Given the description of an element on the screen output the (x, y) to click on. 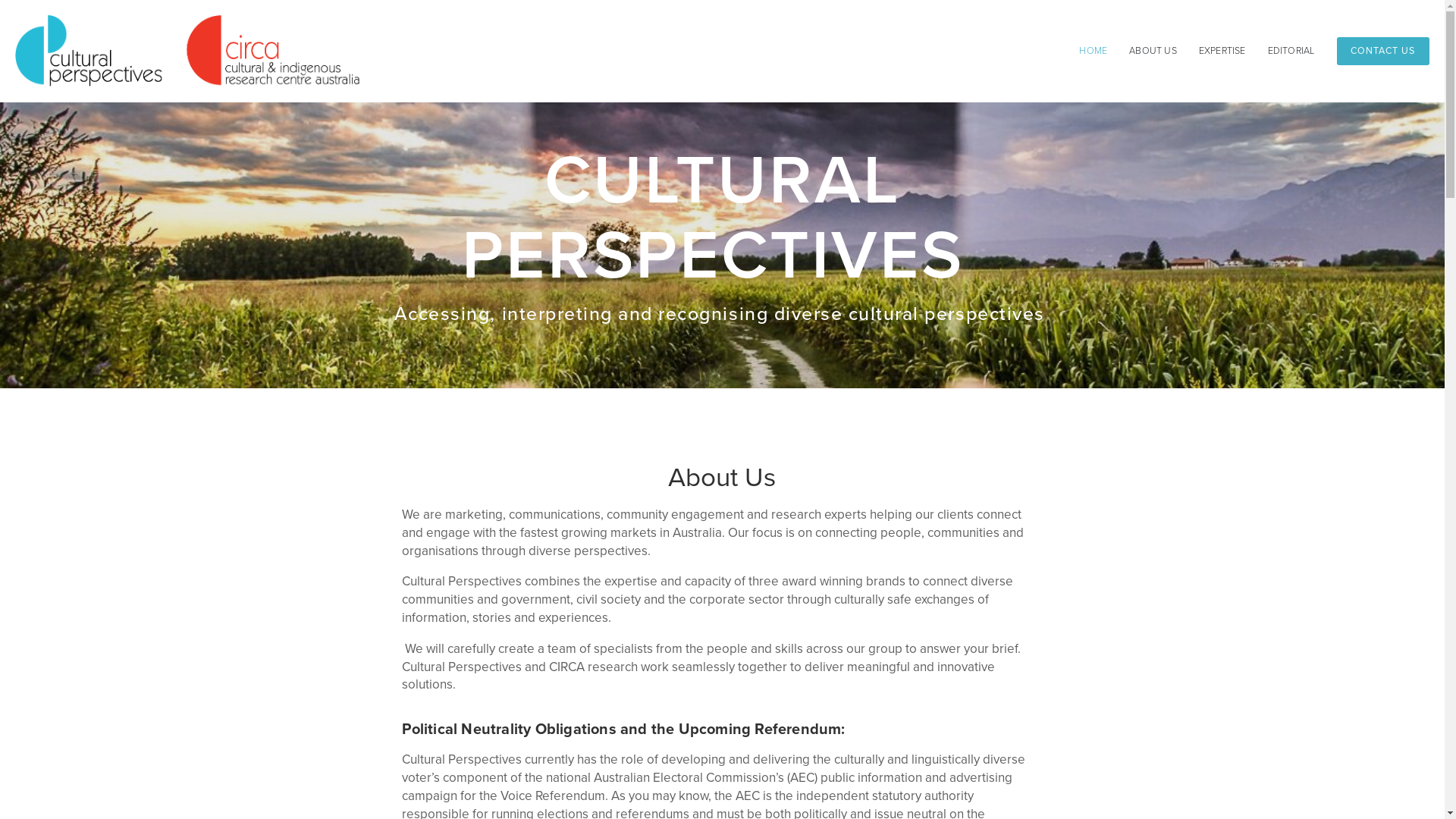
HOME Element type: text (1093, 50)
CONTACT US Element type: text (1382, 50)
